Given the description of an element on the screen output the (x, y) to click on. 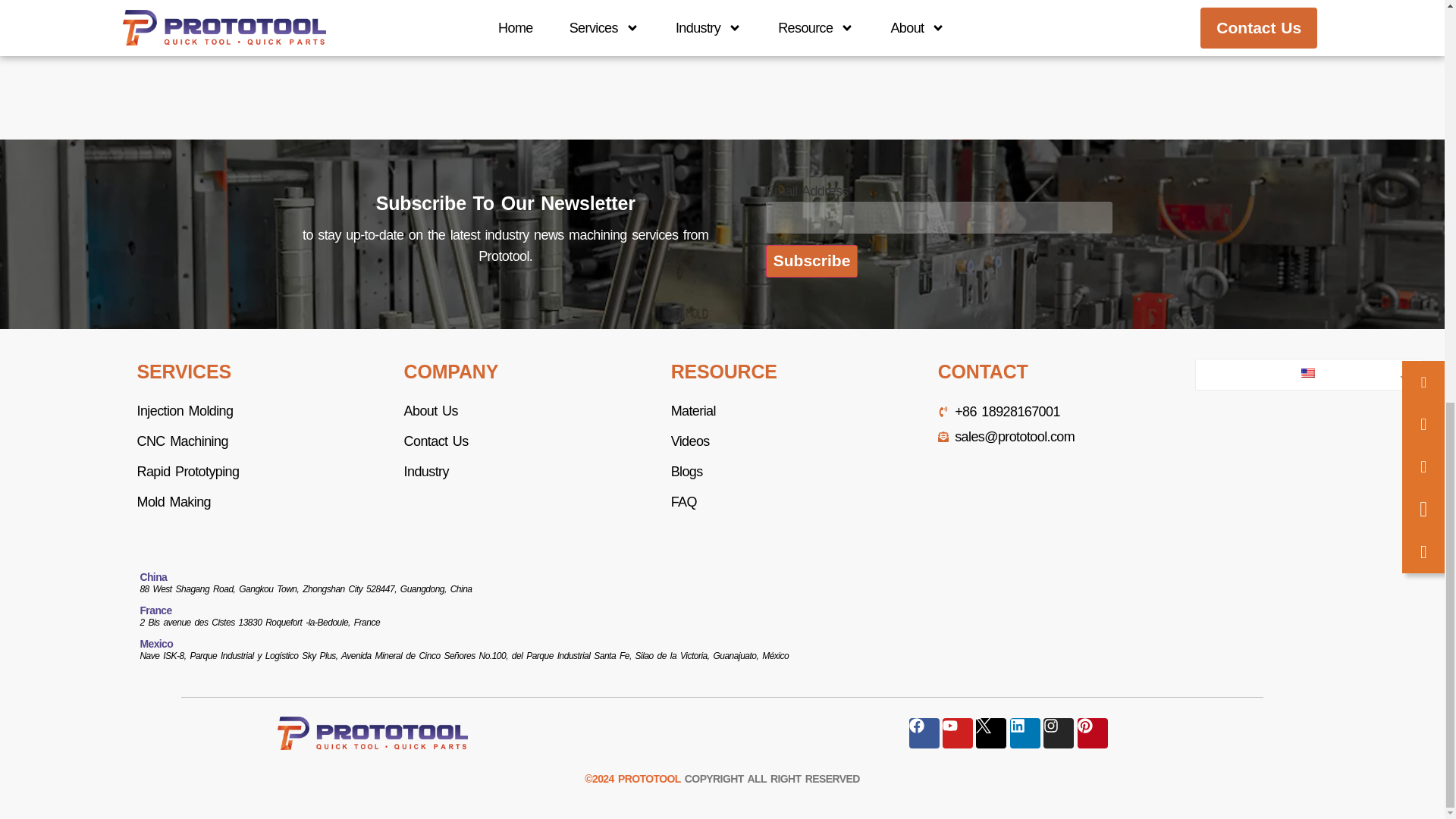
English (1308, 374)
English (1307, 372)
Subscribe (812, 260)
